Given the description of an element on the screen output the (x, y) to click on. 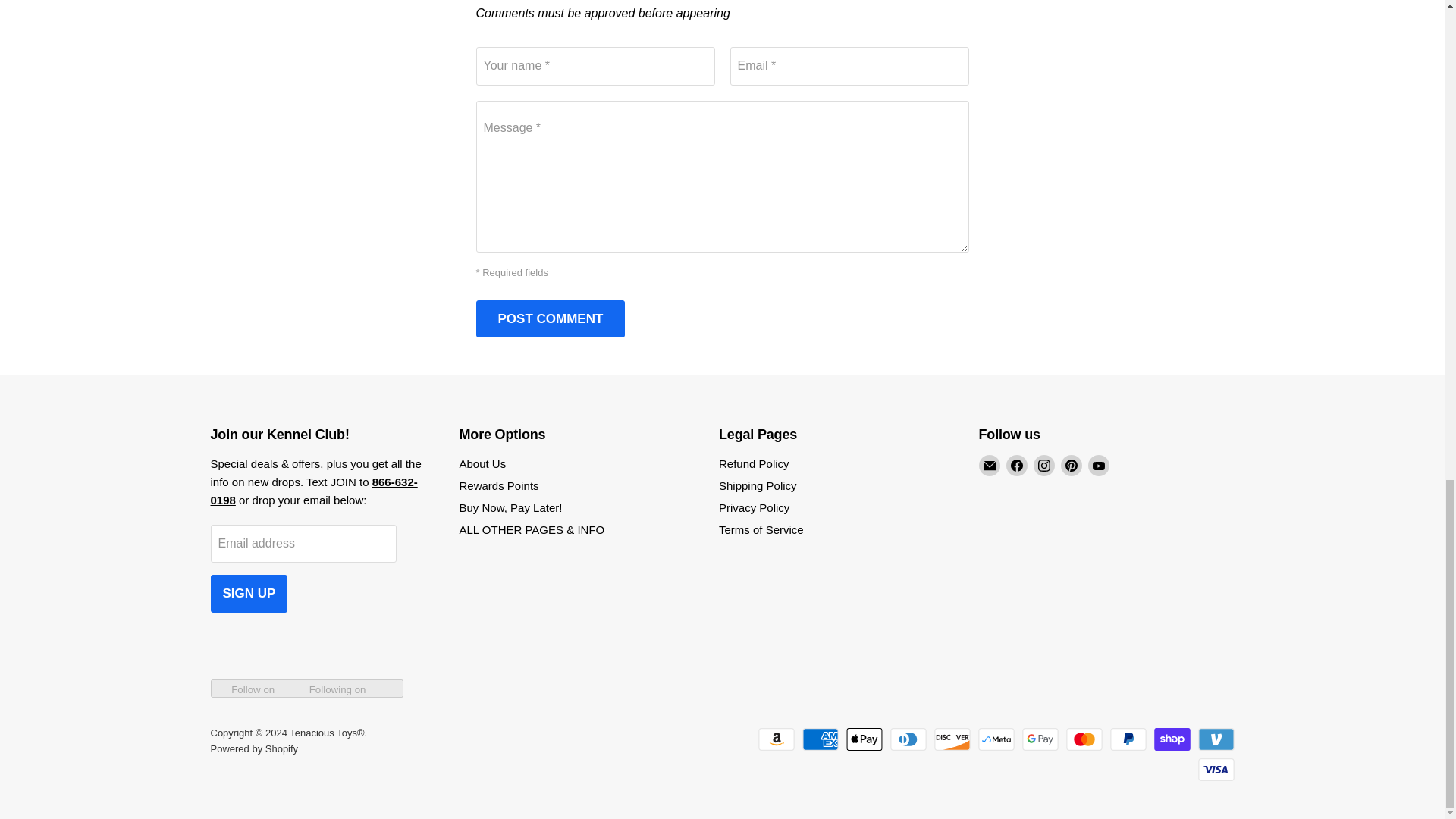
Facebook (1016, 465)
YouTube (1097, 465)
Amazon (776, 739)
Instagram (1043, 465)
American Express (820, 739)
Apple Pay (863, 739)
Diners Club (907, 739)
Pinterest (1070, 465)
Links (314, 490)
Email (988, 465)
